Given the description of an element on the screen output the (x, y) to click on. 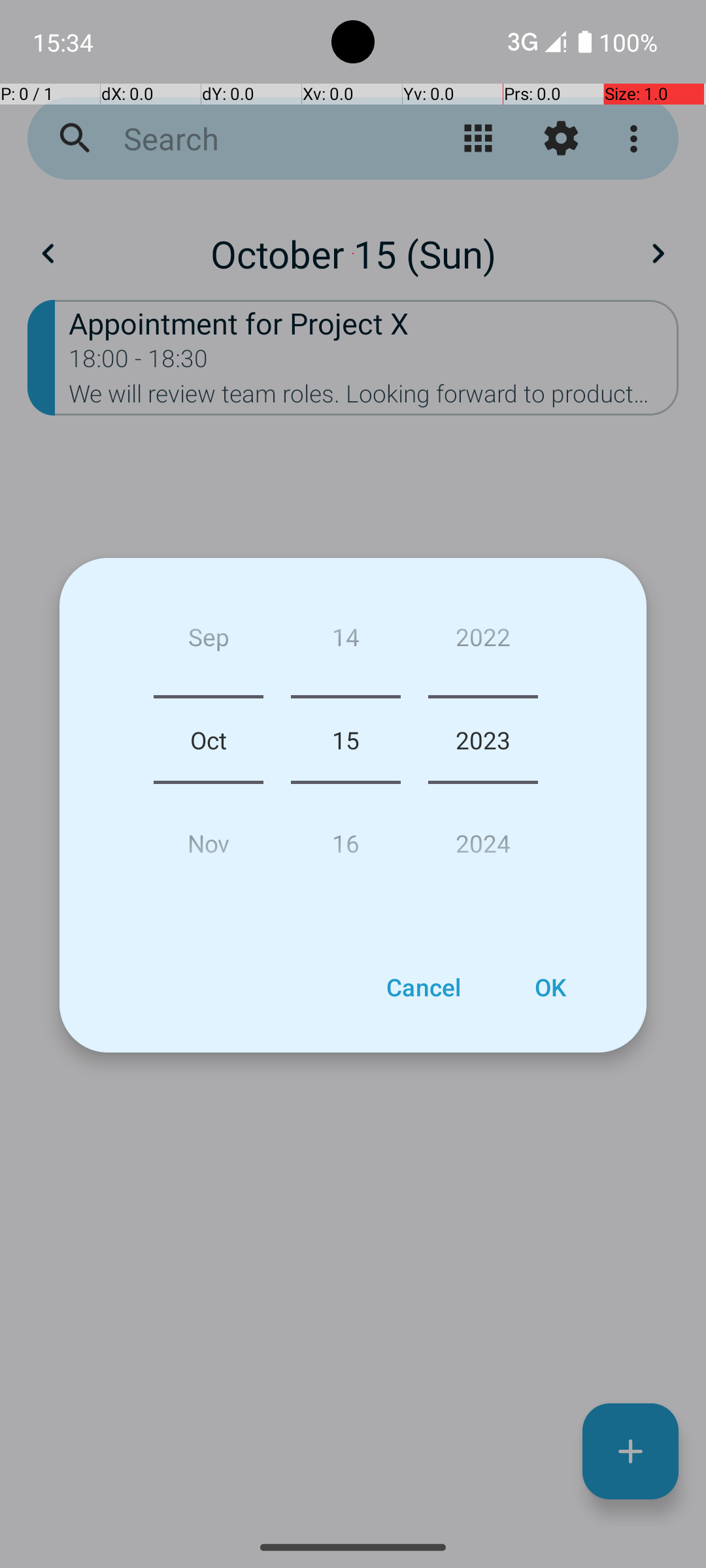
Nov Element type: android.widget.Button (208, 837)
2022 Element type: android.widget.Button (482, 641)
